Given the description of an element on the screen output the (x, y) to click on. 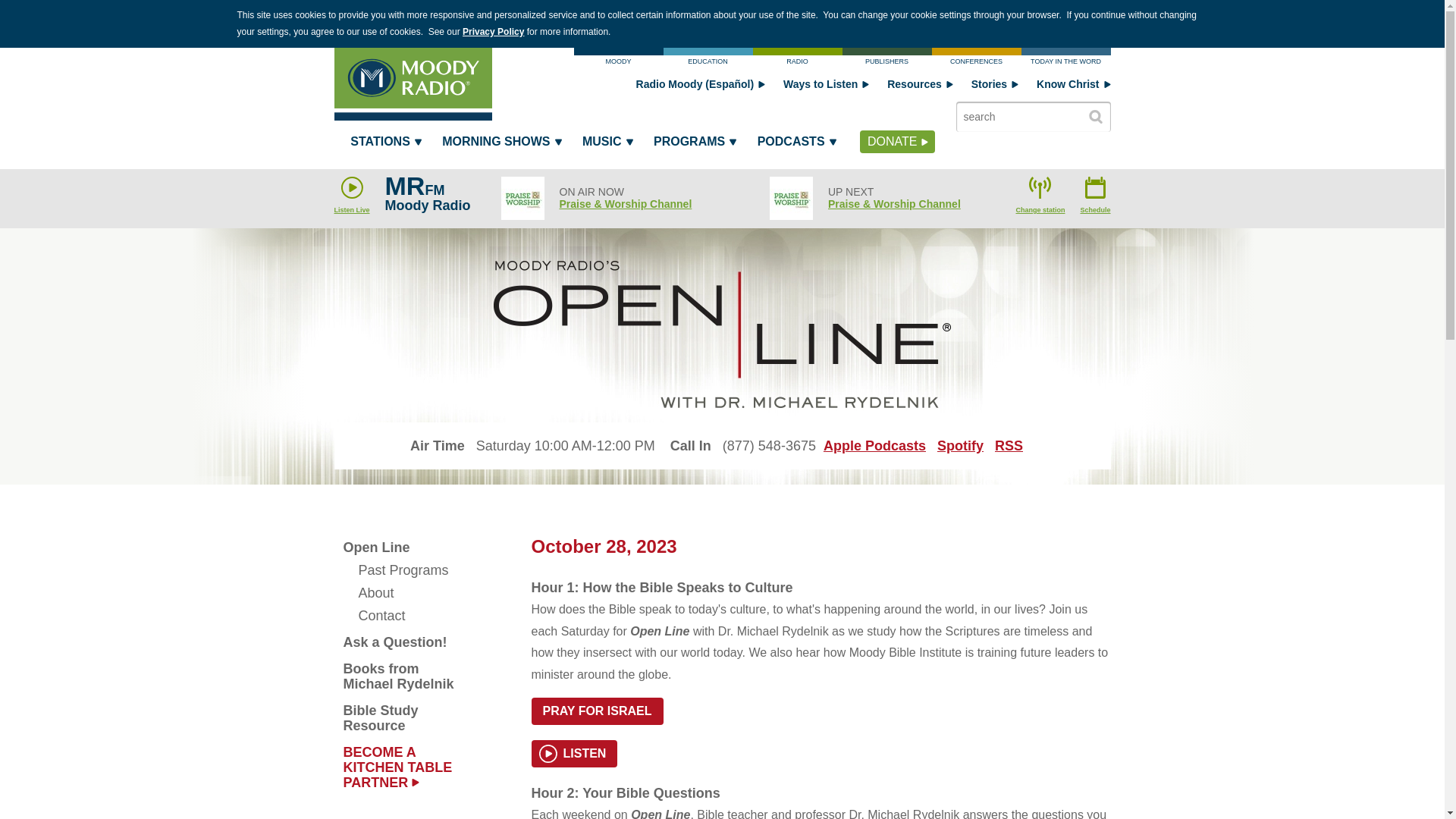
Ways to Listen (826, 83)
Past Programs (403, 569)
Books from Michael Rydelnik (403, 676)
DONATE (897, 141)
Resources (919, 83)
Pray for Israel (596, 710)
Ask a Question! (403, 641)
PODCASTS (796, 145)
EDUCATION (707, 59)
Know Christ (1072, 83)
MOODY (617, 59)
RADIO (796, 59)
MUSIC (606, 145)
Open Line (403, 547)
Contact (403, 615)
